Given the description of an element on the screen output the (x, y) to click on. 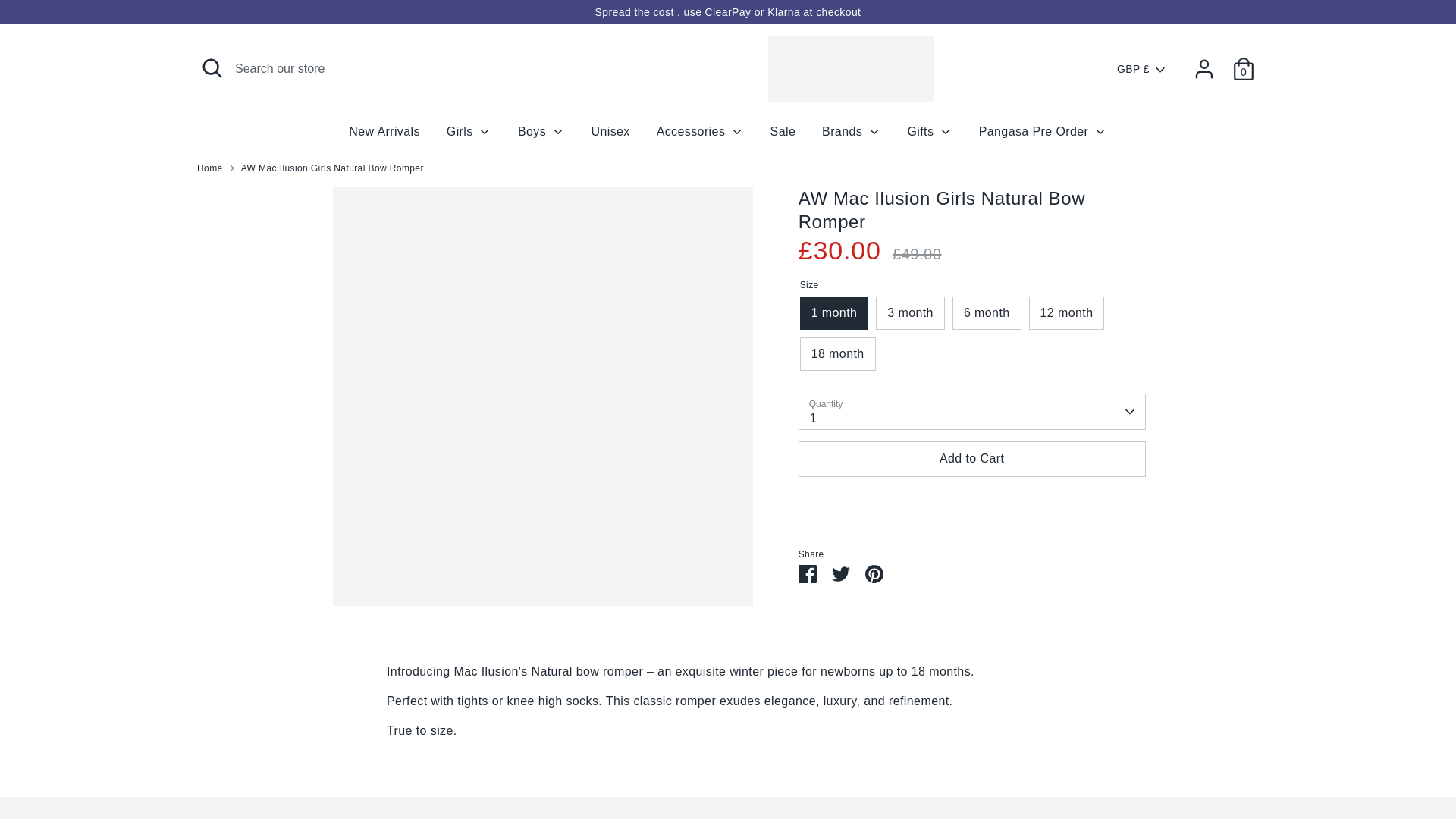
Apple Pay (969, 771)
American Express (938, 771)
